Given the description of an element on the screen output the (x, y) to click on. 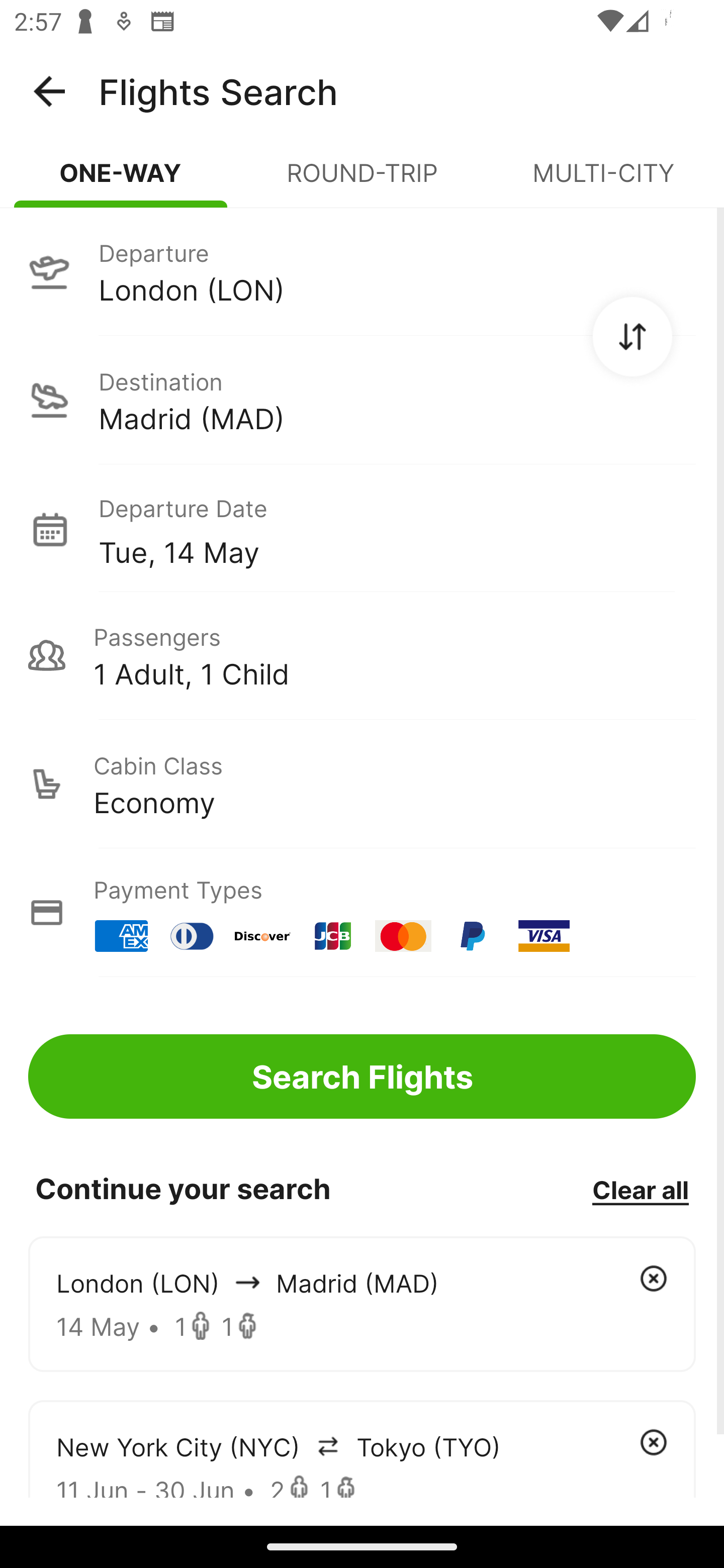
ONE-WAY (120, 180)
ROUND-TRIP (361, 180)
MULTI-CITY (603, 180)
Departure London (LON) (362, 270)
Destination Madrid (MAD) (362, 400)
Departure Date Tue, 14 May (396, 528)
Passengers 1 Adult, 1 Child (362, 655)
Cabin Class Economy (362, 783)
Payment Types (362, 912)
Search Flights (361, 1075)
Clear all (640, 1189)
